Given the description of an element on the screen output the (x, y) to click on. 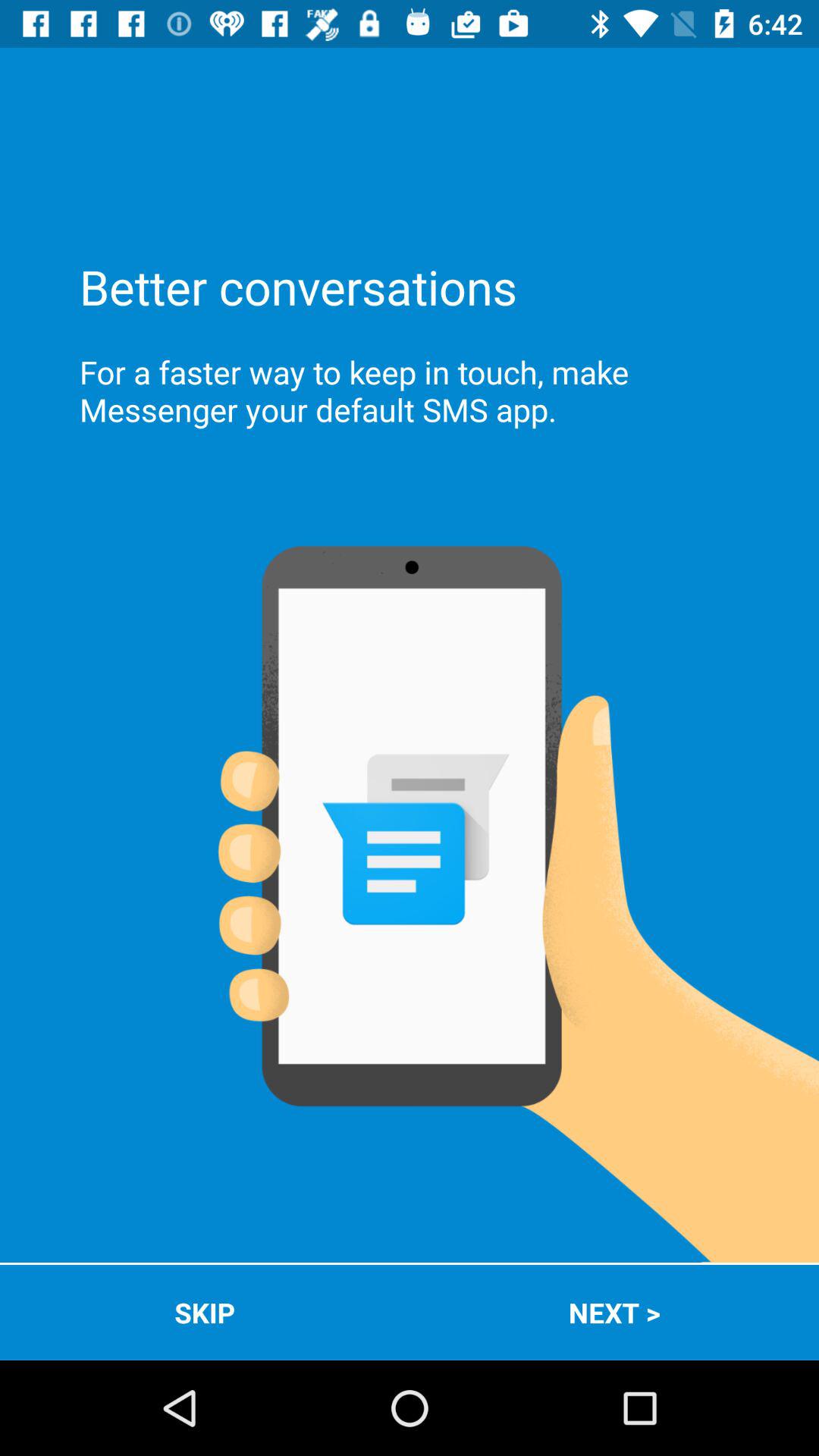
turn on the skip at the bottom left corner (204, 1312)
